Given the description of an element on the screen output the (x, y) to click on. 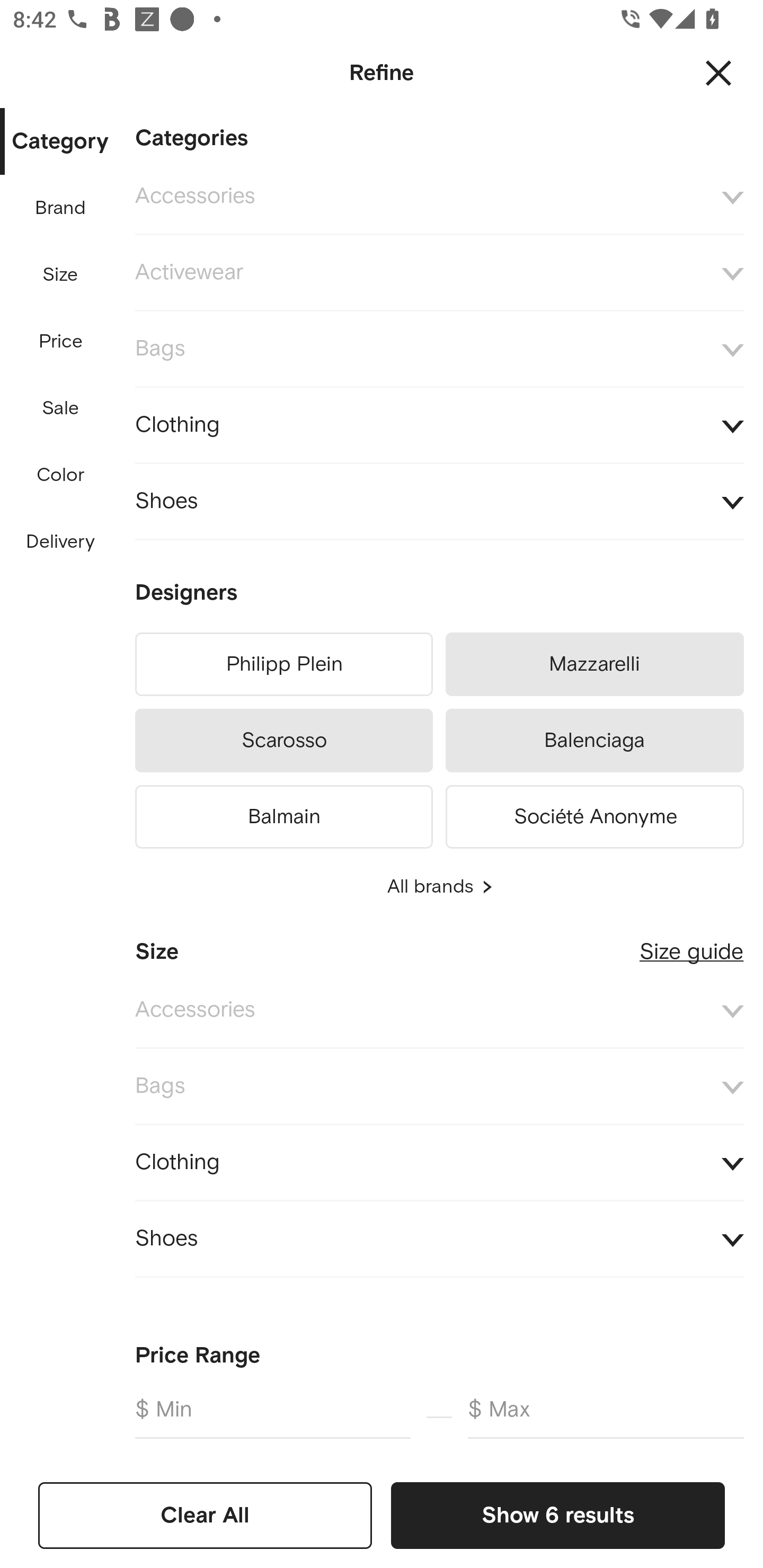
Category (60, 141)
Accessories (439, 196)
Brand (60, 208)
Activewear (439, 272)
Size (60, 274)
Price (60, 342)
Bags (439, 348)
Sale (60, 408)
Clothing (439, 425)
Color (60, 475)
Shoes (439, 501)
Delivery (60, 542)
Philipp Plein (283, 663)
Mazzarelli (594, 663)
Scarosso (283, 740)
Balenciaga (594, 740)
Balmain (283, 813)
Société Anonyme (594, 813)
All brands (439, 886)
Size guide (691, 944)
Accessories (439, 1010)
Bags (439, 1086)
Clothing (439, 1162)
Shoes (439, 1239)
$ Min (272, 1416)
$ Max (605, 1416)
Clear All (205, 1515)
Show 6 results (557, 1515)
